Given the description of an element on the screen output the (x, y) to click on. 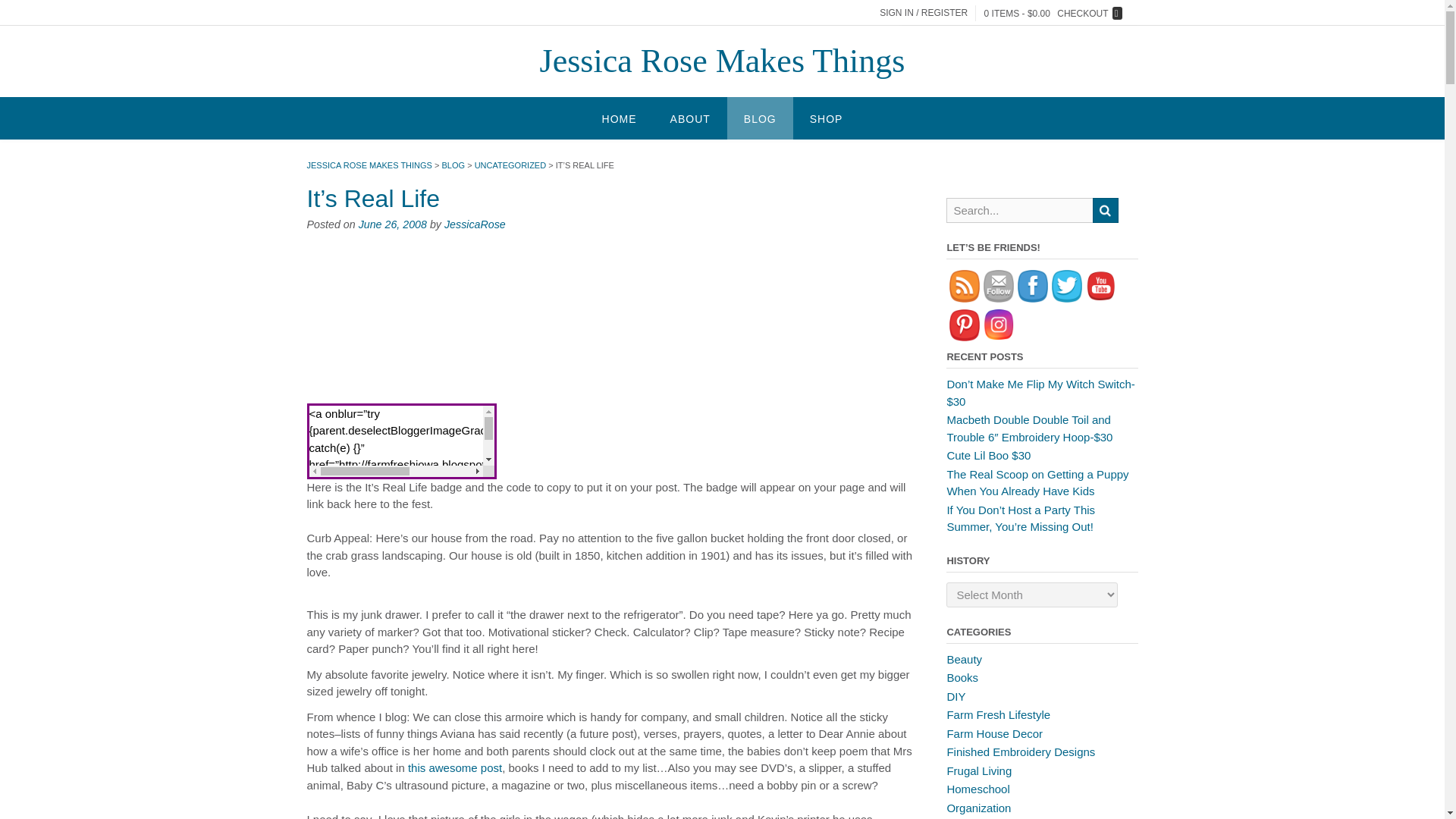
View your shopping cart (1053, 12)
Jessica Rose Makes Things (722, 60)
Jessica Rose Makes Things (722, 60)
Search for: (1006, 9)
JESSICA ROSE MAKES THINGS (367, 164)
HOME (619, 118)
RSS (964, 286)
